Given the description of an element on the screen output the (x, y) to click on. 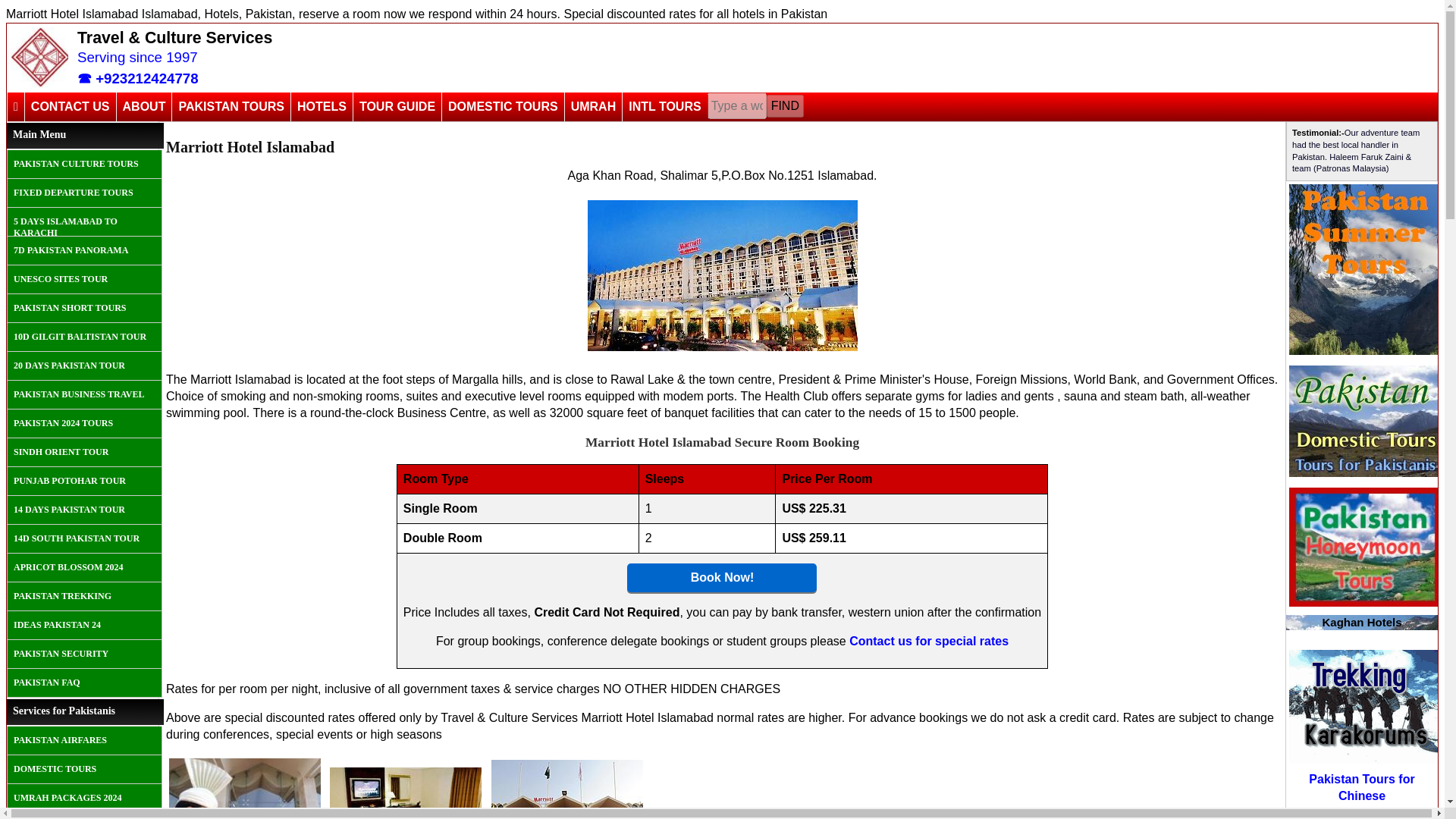
Advertisement (555, 57)
ABOUT (143, 106)
PAKISTAN AIRFARES (84, 740)
7D PAKISTAN PANORAMA (84, 250)
IDEAS PAKISTAN 24 (84, 624)
Short tours in Pakistan 2 days to 7days (84, 308)
PAKISTAN SECURITY (84, 654)
PAKISTAN TOURS (230, 106)
PAKISTAN 2024 TOURS (84, 423)
TOUR GUIDE (396, 106)
